Given the description of an element on the screen output the (x, y) to click on. 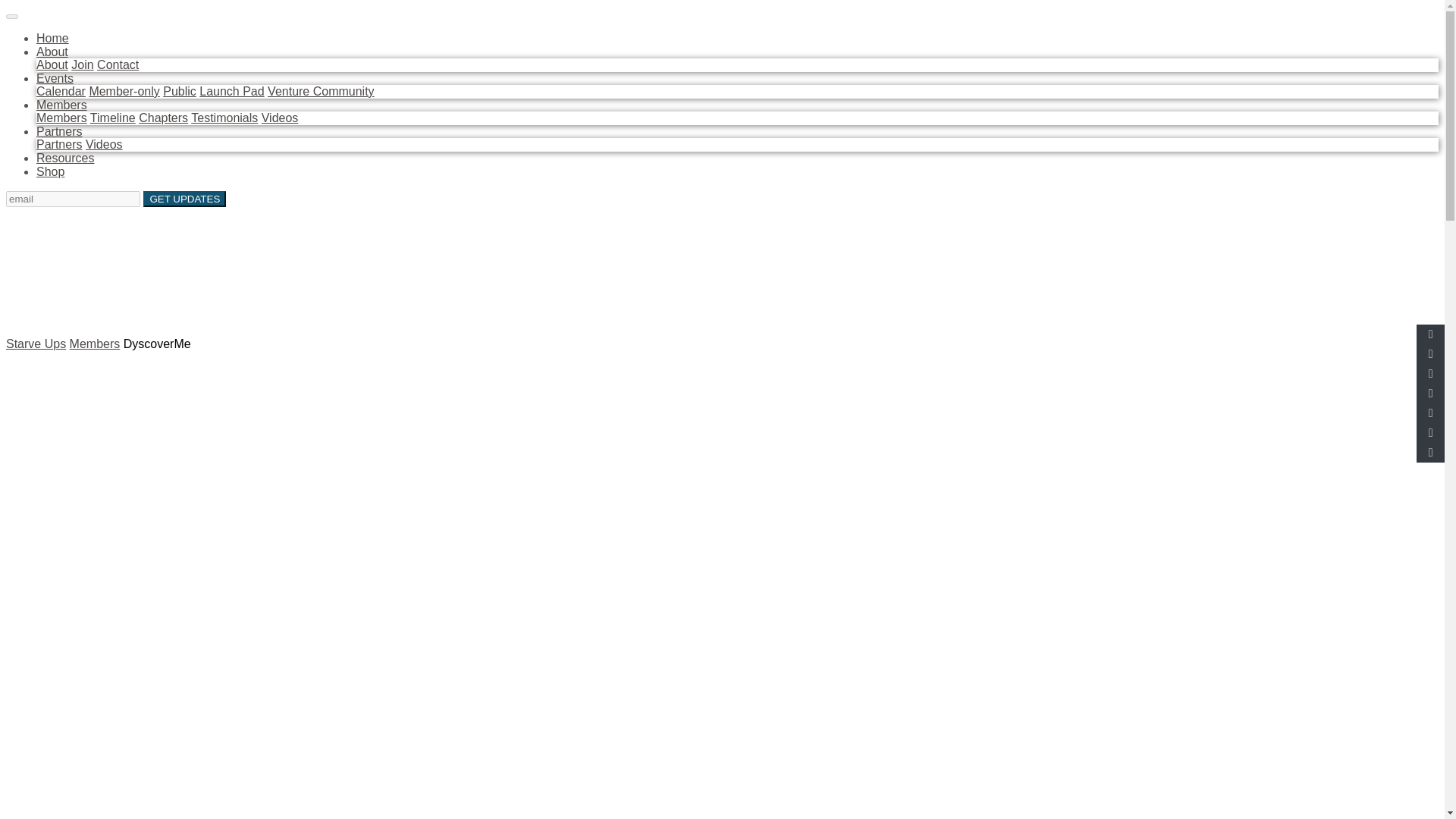
GET UPDATES (183, 198)
Calendar (60, 91)
Videos (103, 144)
Starve Ups on Instagram (51, 213)
Member-only (123, 91)
Shop (50, 171)
Partners (58, 144)
Starve Ups on Facebook (13, 213)
About (52, 51)
Join (82, 64)
